Given the description of an element on the screen output the (x, y) to click on. 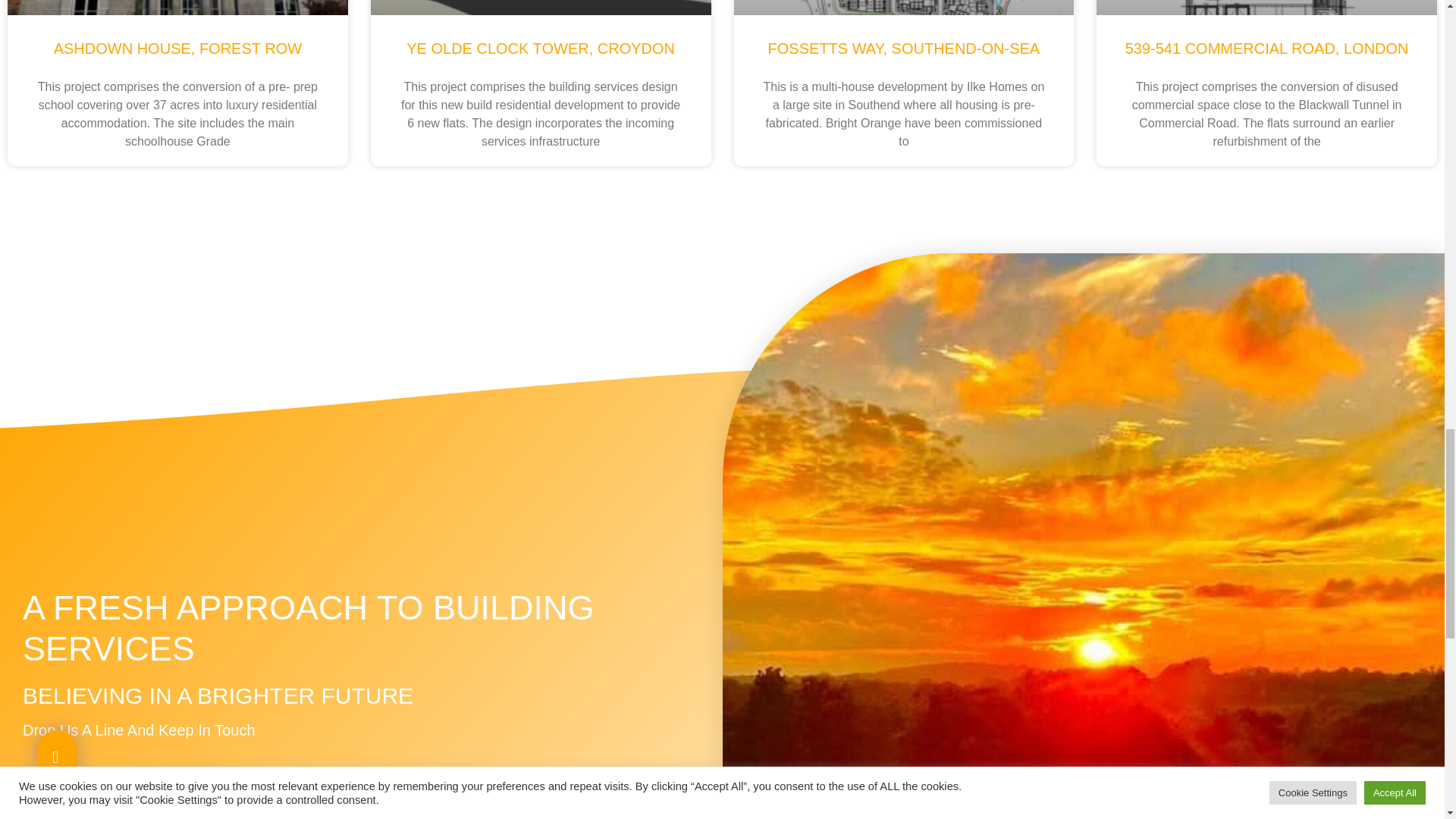
FOSSETTS WAY, SOUTHEND-ON-SEA (904, 48)
539-541 COMMERCIAL ROAD, LONDON (1267, 48)
ASHDOWN HOUSE, FOREST ROW (177, 48)
Contact Us (79, 805)
YE OLDE CLOCK TOWER, CROYDON (540, 48)
